Given the description of an element on the screen output the (x, y) to click on. 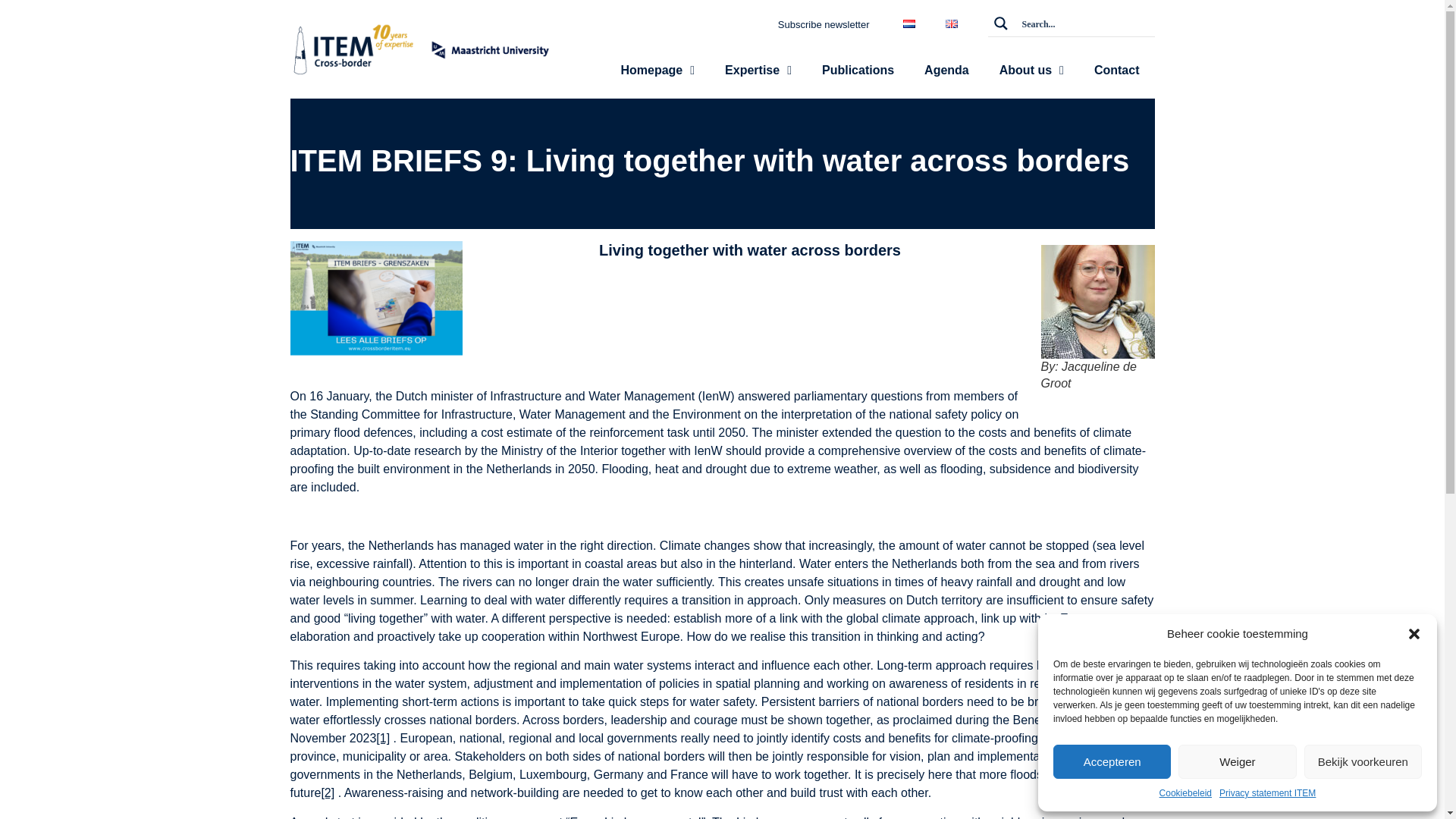
Homepage (657, 70)
Accepteren (1111, 761)
Privacy statement ITEM (1268, 793)
Subscribe newsletter (823, 24)
Bekijk voorkeuren (1363, 761)
About us (1031, 70)
Weiger (1236, 761)
Cookiebeleid (1184, 793)
Contact (1116, 70)
Publications (857, 70)
Expertise (758, 70)
Agenda (946, 70)
